Given the description of an element on the screen output the (x, y) to click on. 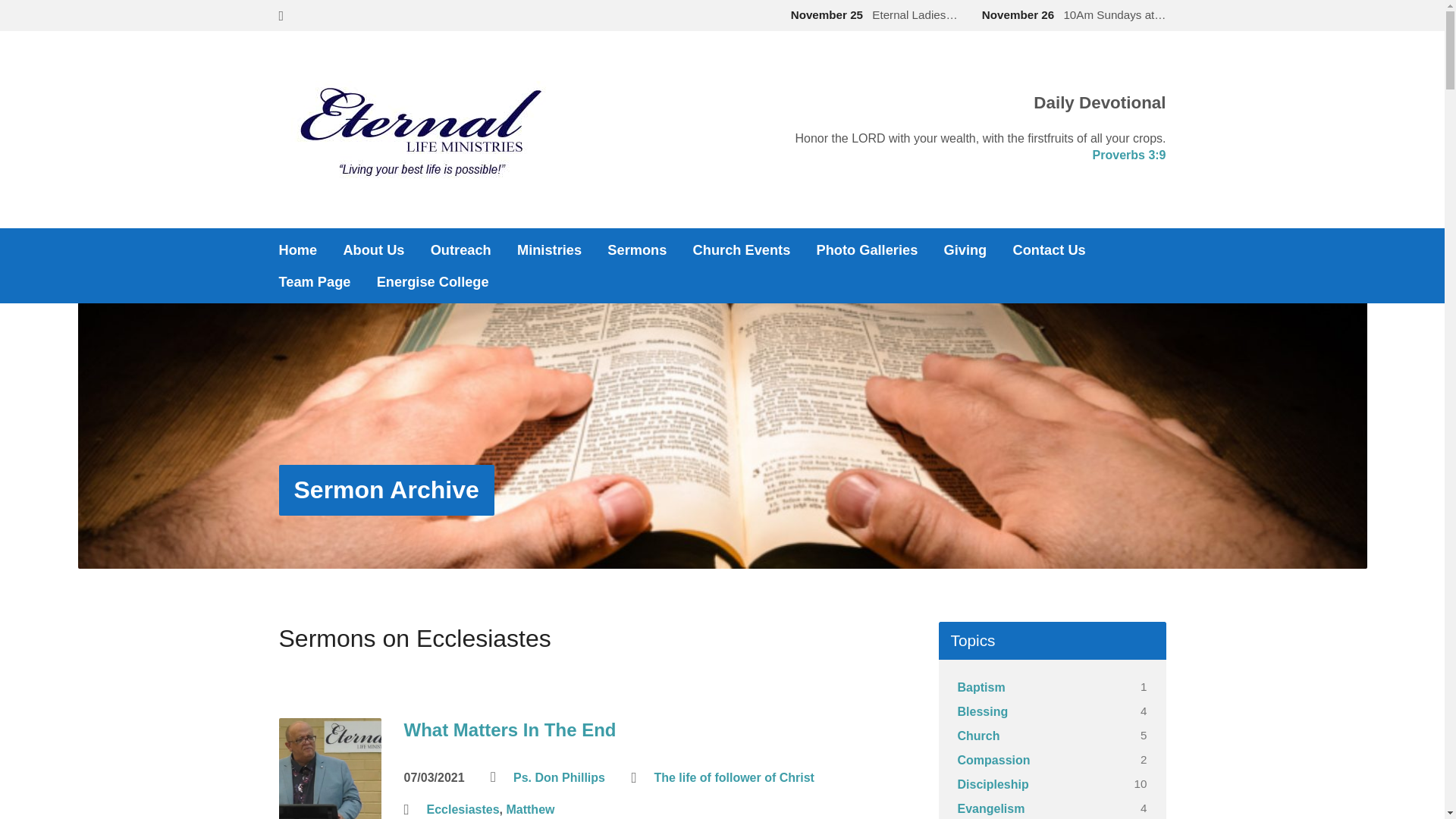
Proverbs 3:9 Element type: text (1129, 154)
Blessing Element type: text (982, 711)
Photo Galleries Element type: text (867, 250)
Sermon Archive Element type: text (386, 489)
Matthew Element type: text (529, 809)
Energise College Element type: text (432, 281)
Team Page Element type: text (315, 281)
Church Element type: text (978, 735)
Discipleship Element type: text (992, 784)
Compassion Element type: text (993, 759)
Giving Element type: text (965, 250)
Ps. Don Phillips Element type: text (559, 777)
Home Element type: text (298, 250)
Sermons Element type: text (636, 250)
Baptism Element type: text (980, 686)
Church Events Element type: text (741, 250)
The life of follower of Christ Element type: text (733, 777)
Ecclesiastes Element type: text (462, 809)
Contact Us Element type: text (1048, 250)
What Matters In The End Element type: hover (330, 808)
Ministries Element type: text (549, 250)
About Us Element type: text (373, 250)
What Matters In The End Element type: text (509, 729)
Outreach Element type: text (460, 250)
Evangelism Element type: text (990, 808)
